Given the description of an element on the screen output the (x, y) to click on. 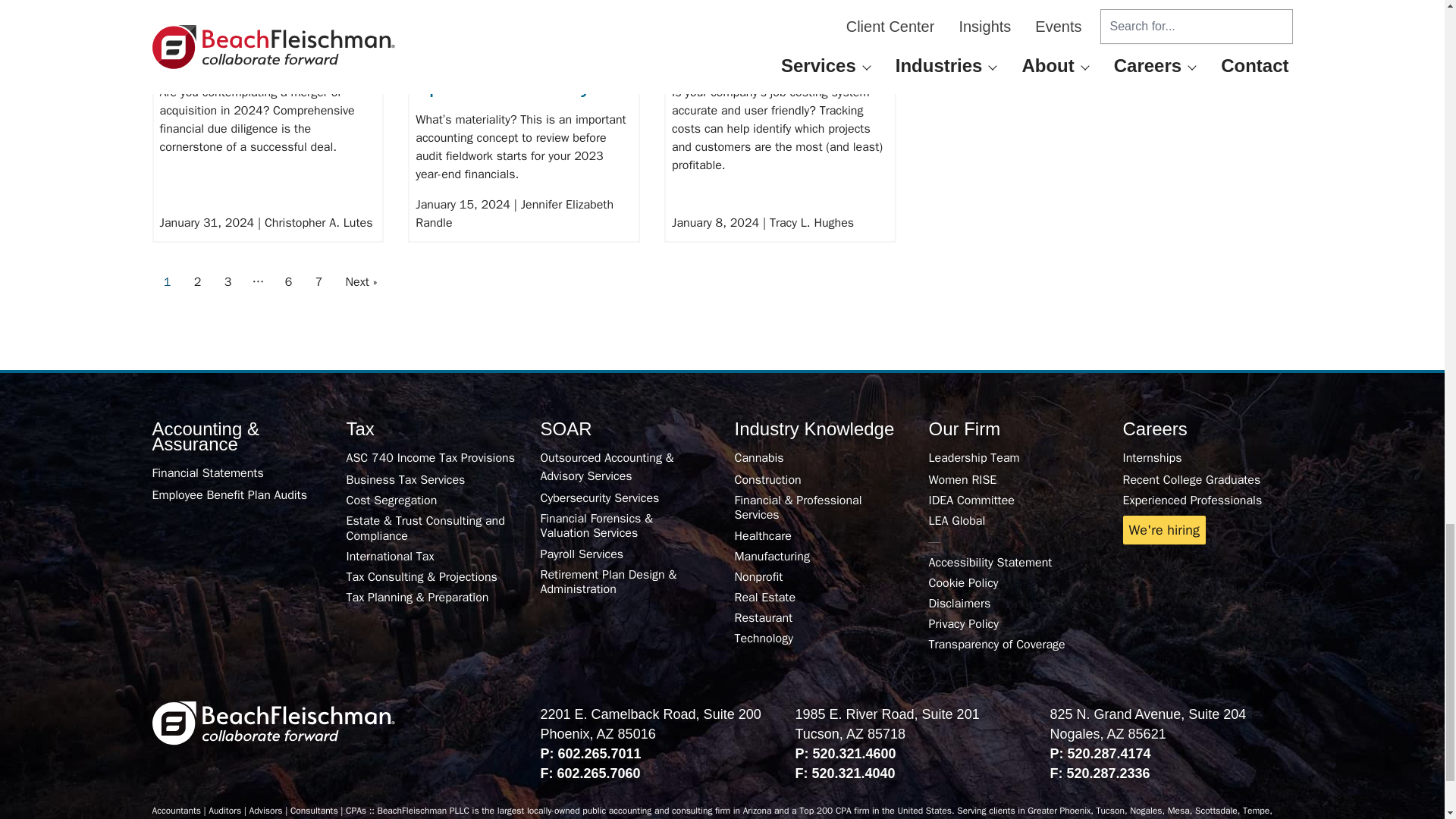
Posts by Christopher A. Lutes (318, 222)
Posts by Jennifer Elizabeth Randle (513, 213)
Posts by Tracy L. Hughes (811, 222)
